Given the description of an element on the screen output the (x, y) to click on. 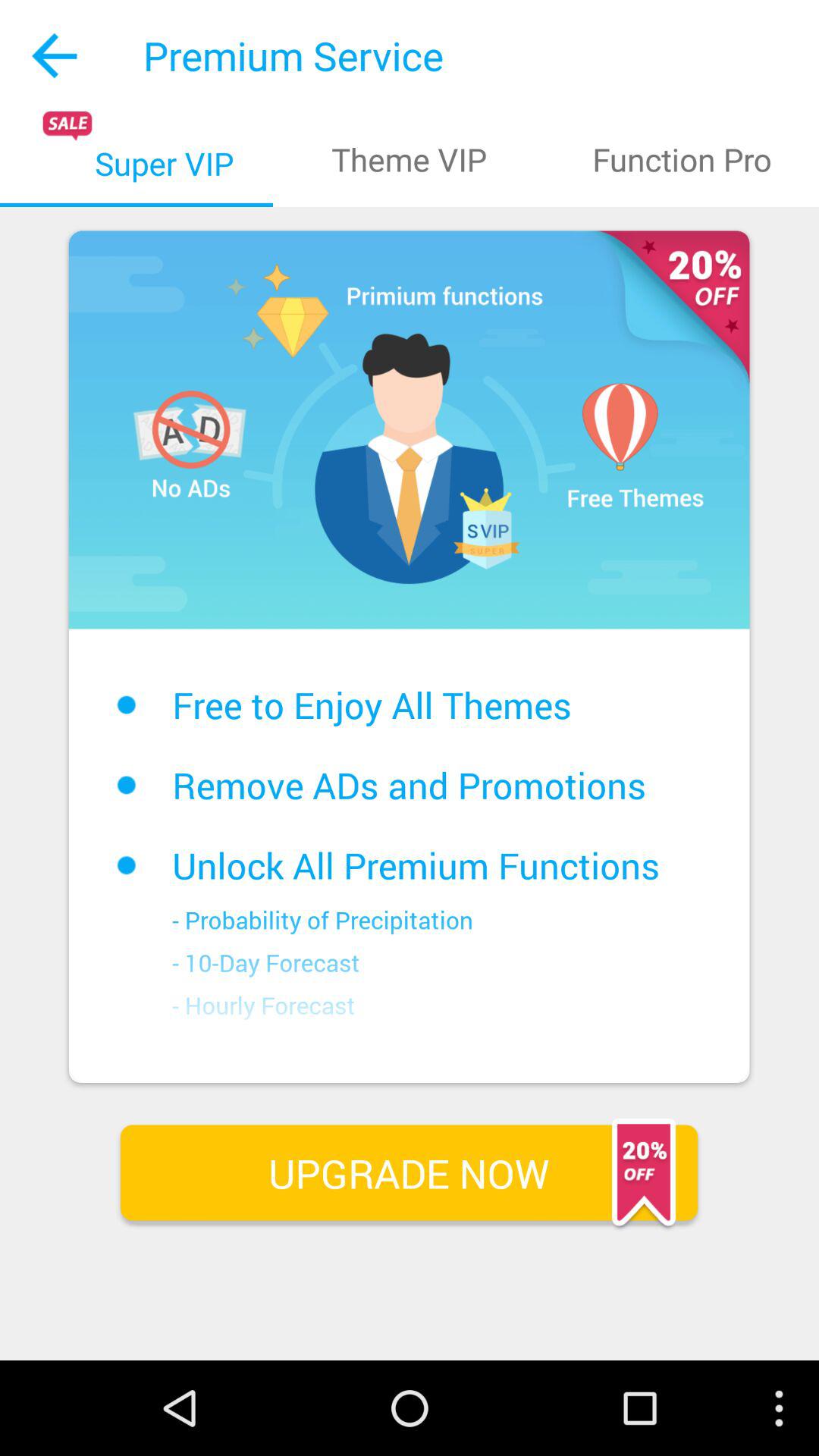
go back (55, 55)
